Given the description of an element on the screen output the (x, y) to click on. 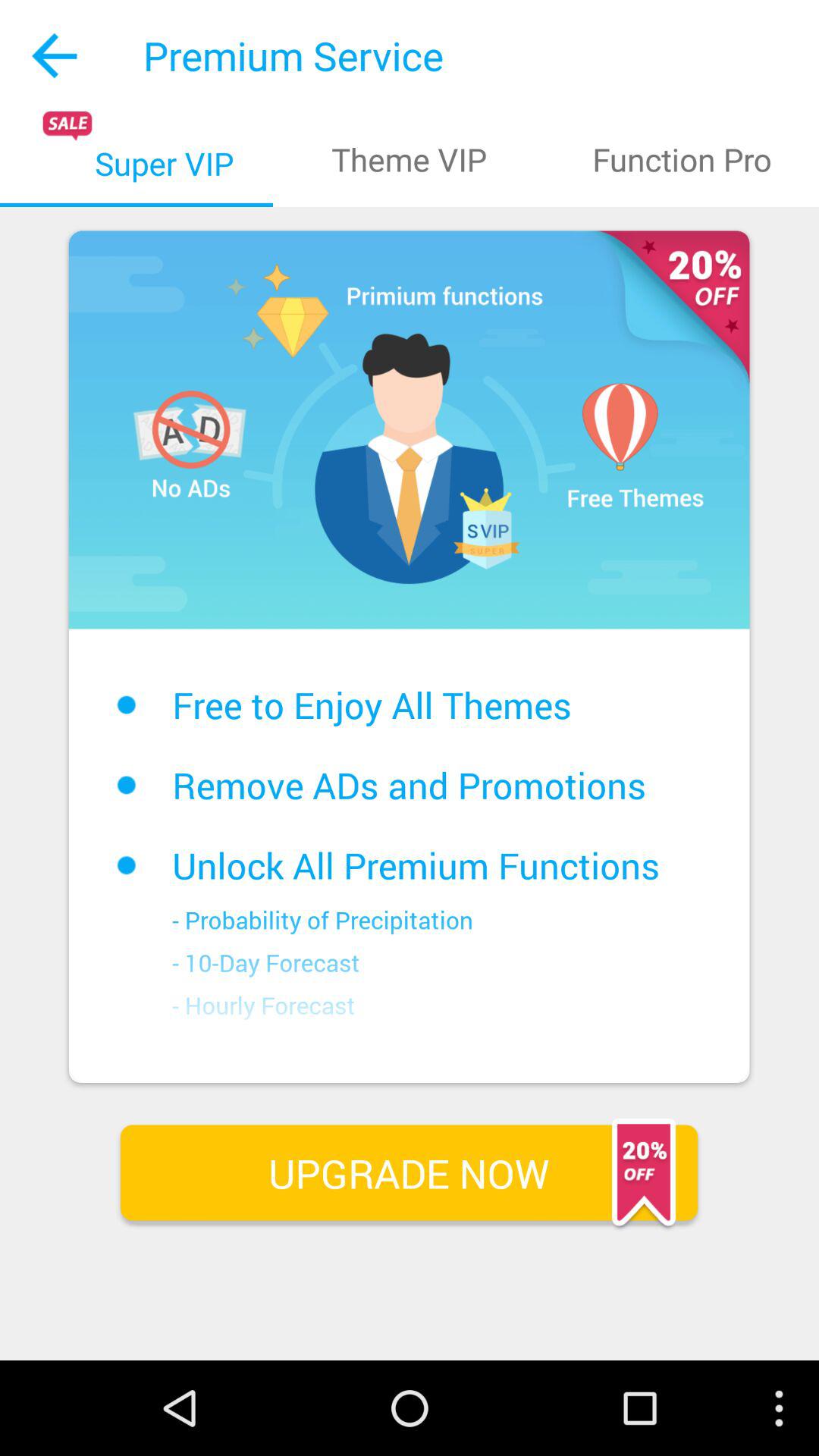
go back (55, 55)
